Given the description of an element on the screen output the (x, y) to click on. 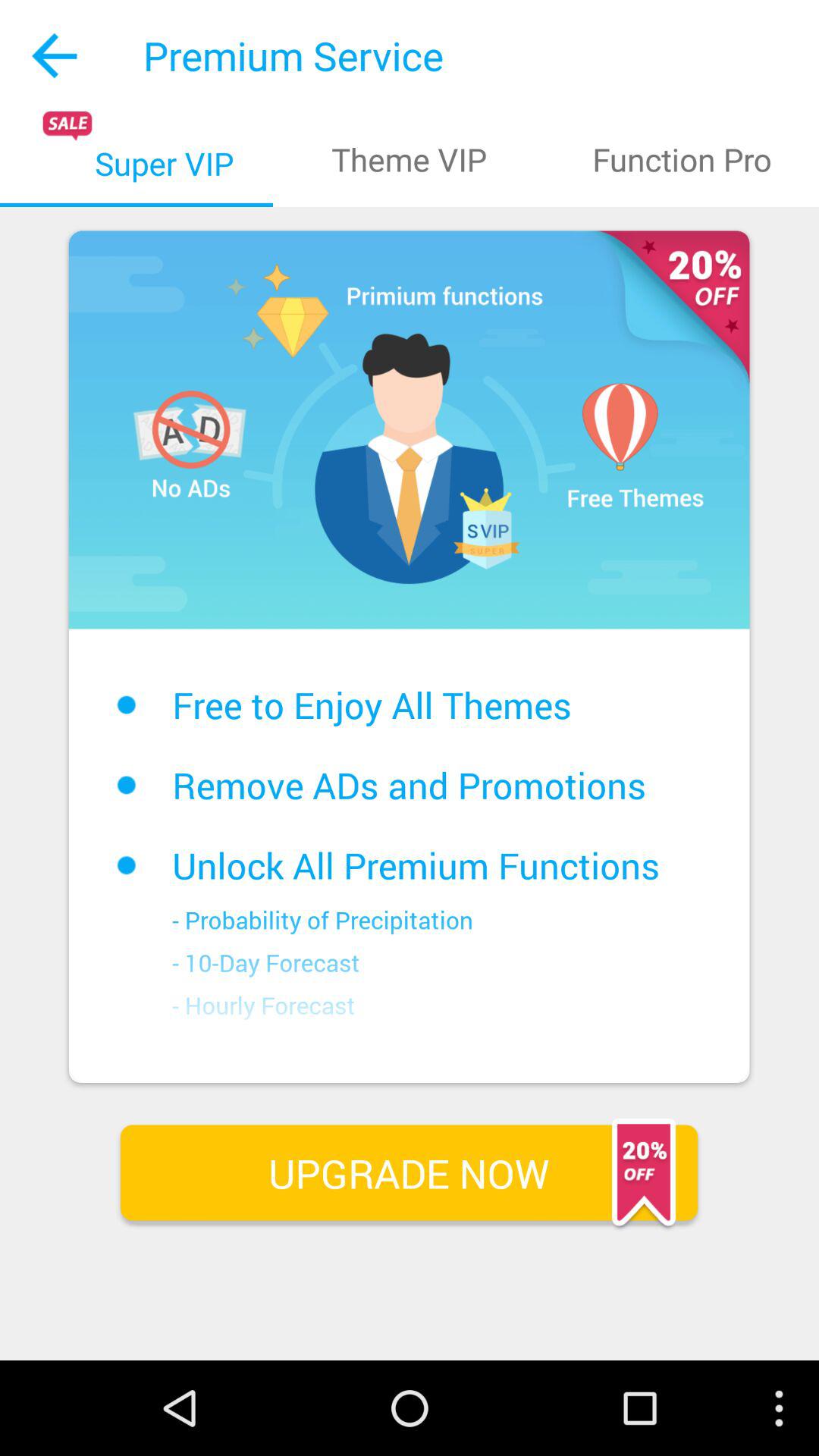
go back (55, 55)
